Given the description of an element on the screen output the (x, y) to click on. 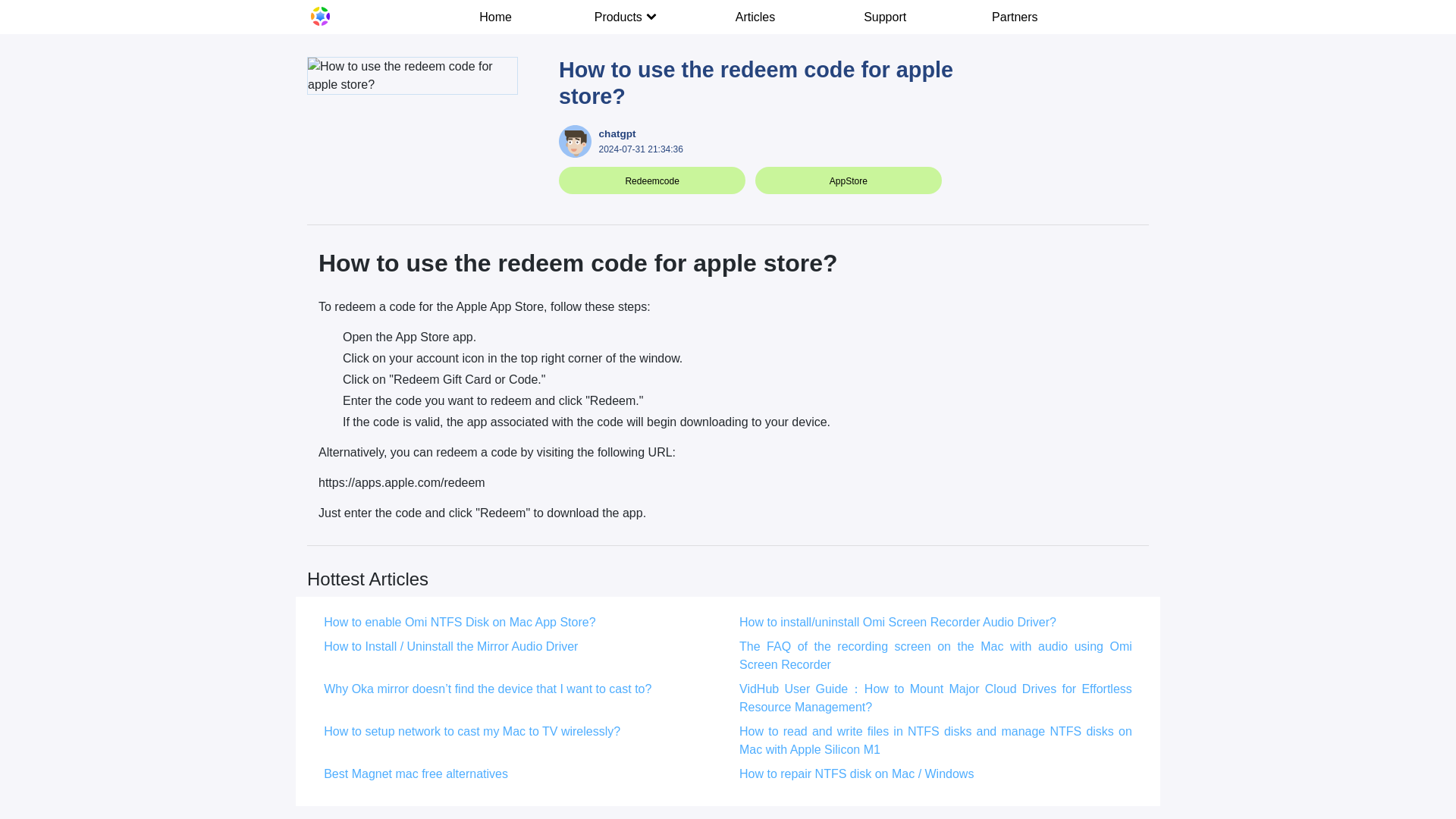
Articles (754, 16)
Support (885, 16)
Products (625, 16)
Redeemcode (651, 181)
Home (495, 16)
Partners (1015, 16)
How to enable Omi NTFS Disk on Mac App Store? (459, 621)
AppStore (848, 181)
